Given the description of an element on the screen output the (x, y) to click on. 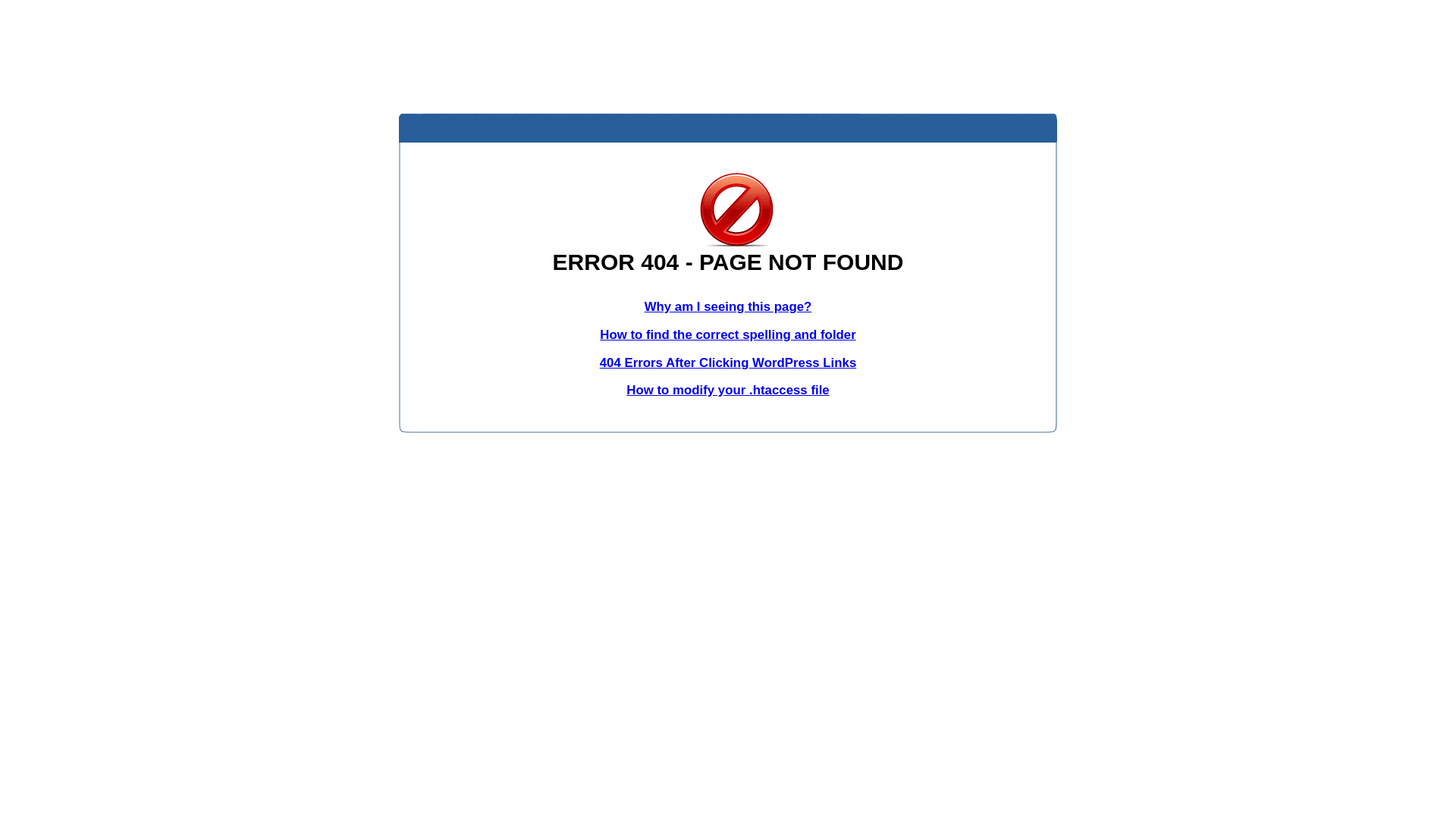
Why am I seeing this page? Element type: text (728, 306)
How to find the correct spelling and folder Element type: text (727, 334)
How to modify your .htaccess file Element type: text (727, 389)
404 Errors After Clicking WordPress Links Element type: text (727, 362)
